Given the description of an element on the screen output the (x, y) to click on. 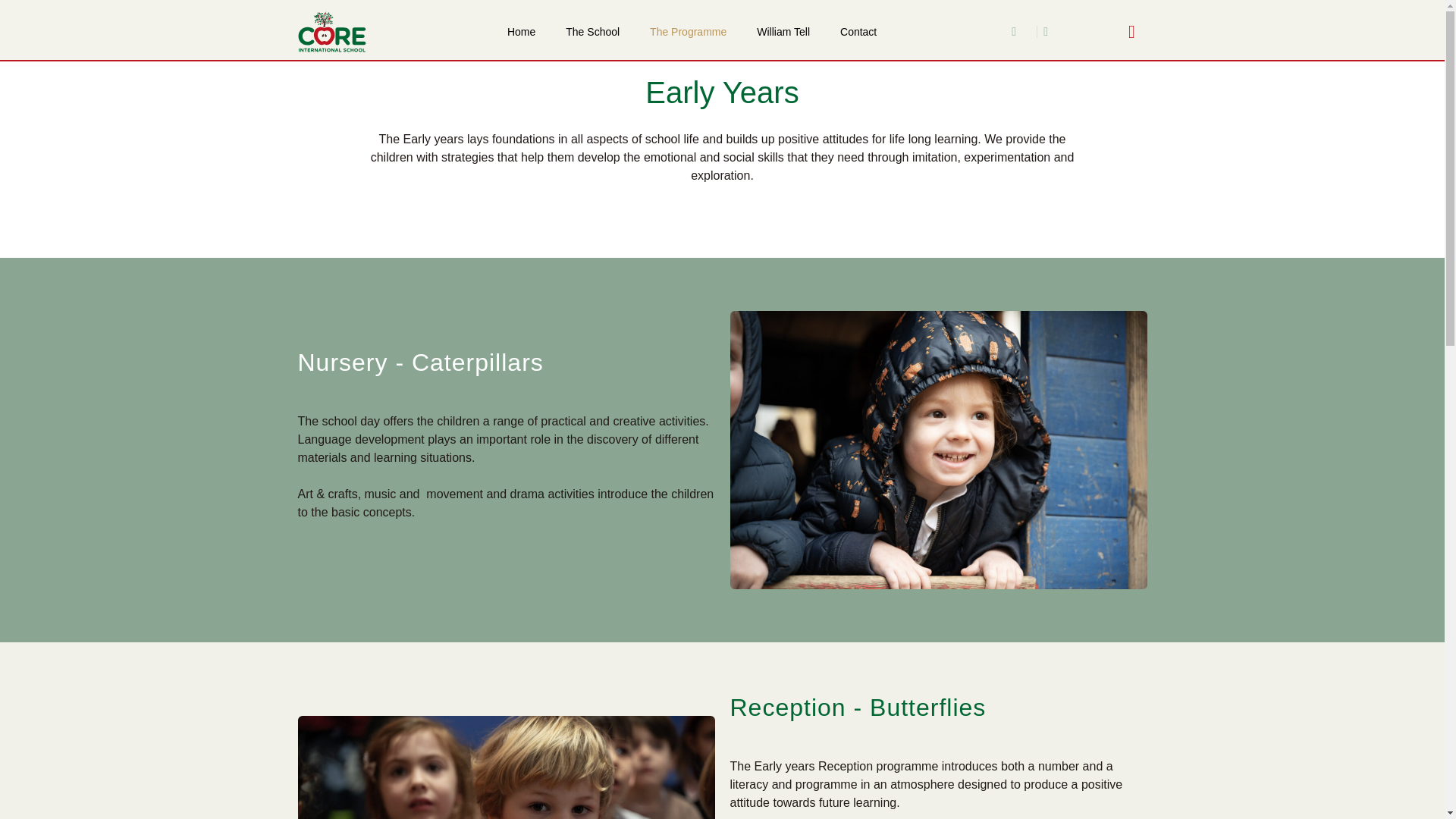
William Tell (783, 31)
The Programme (687, 31)
Contact (858, 31)
The School (592, 31)
Home (521, 31)
